Given the description of an element on the screen output the (x, y) to click on. 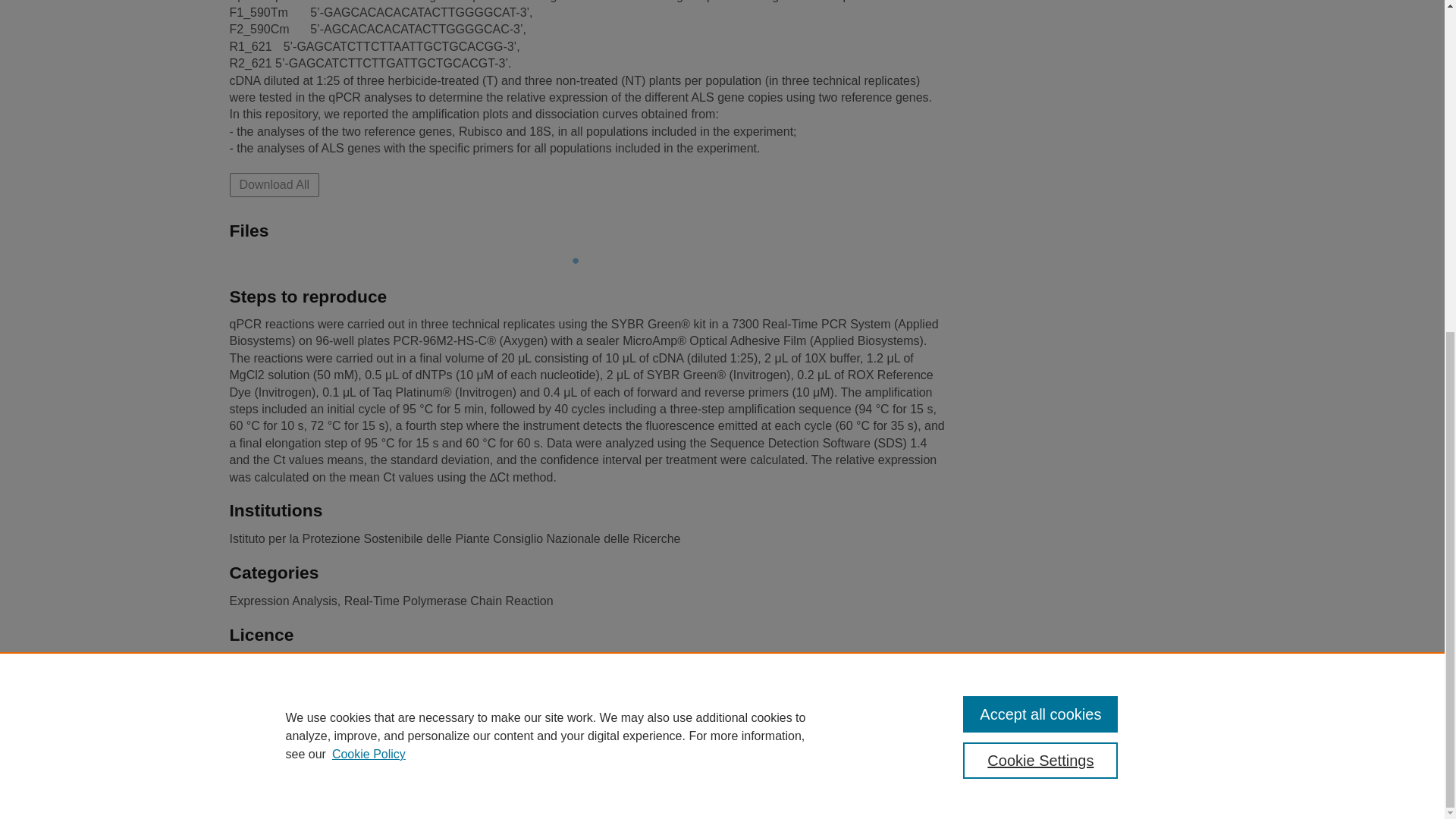
Privacy Policy (568, 763)
Mission (979, 744)
OAI (931, 744)
Archive Policy (723, 744)
Terms of Use (489, 763)
File Formats (807, 744)
Download All (273, 184)
Cookie Settings (652, 763)
Accessibility Statement (613, 744)
Cookie Policy (368, 201)
API Docs (879, 744)
Cookie Settings (586, 670)
About (1040, 207)
Home (524, 744)
